Given the description of an element on the screen output the (x, y) to click on. 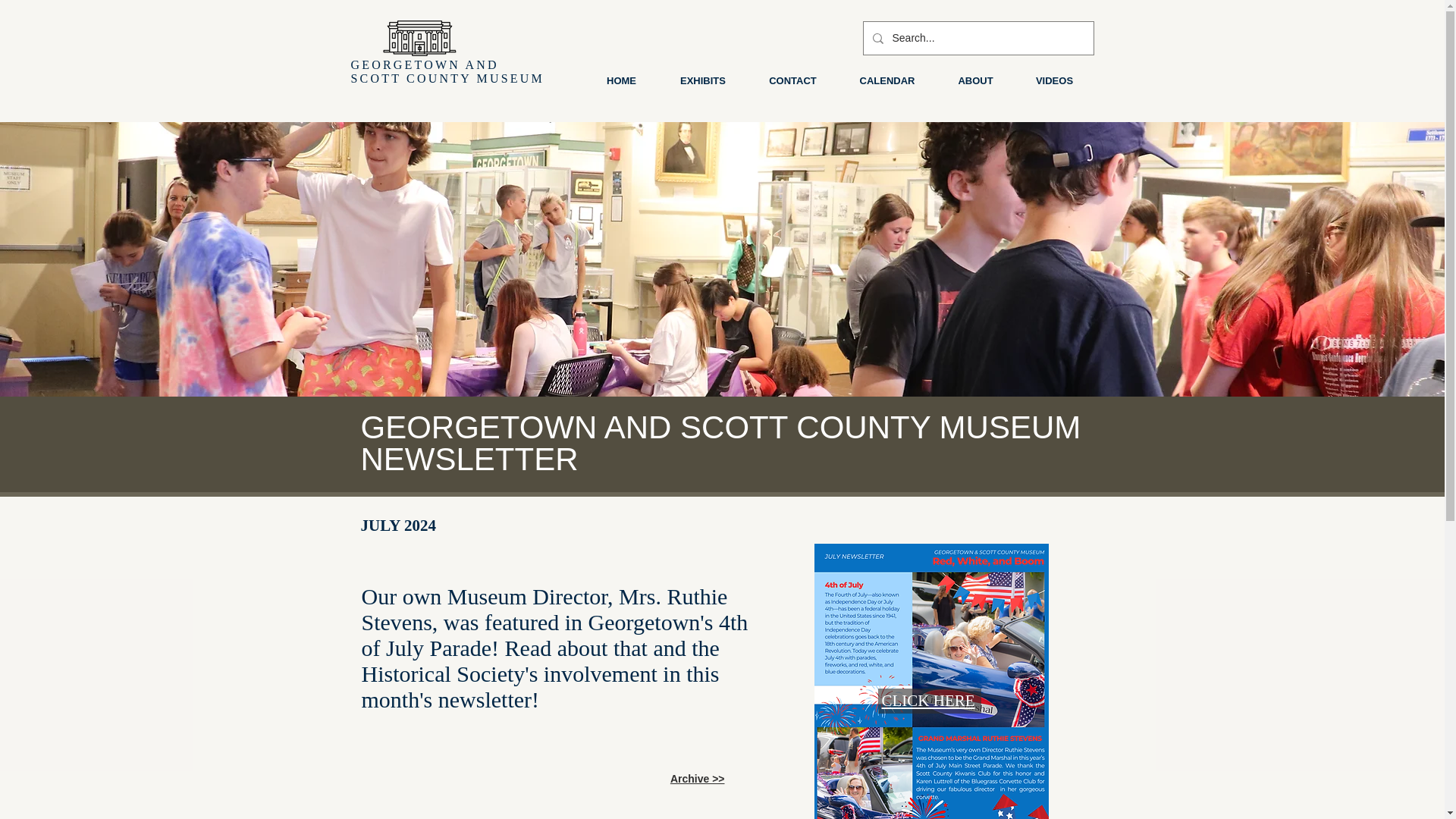
CLICK HERE (927, 700)
CALENDAR (887, 80)
CONTACT (793, 80)
VIDEOS (1053, 80)
HOME (620, 80)
SCOTT COUNTY MUSEUM (447, 78)
GEORGETOWN AND  (426, 64)
ABOUT (975, 80)
EXHIBITS (702, 80)
